Given the description of an element on the screen output the (x, y) to click on. 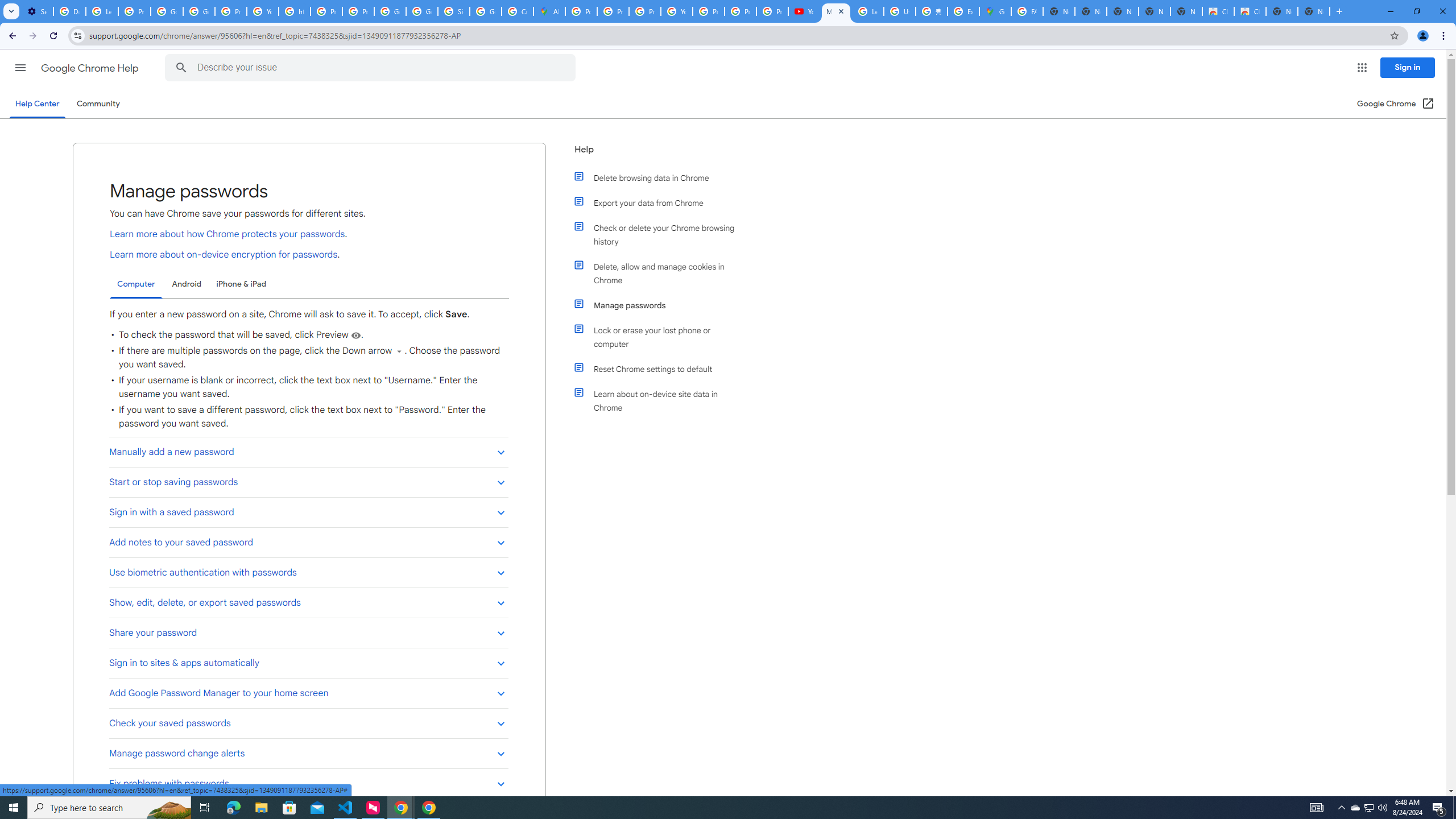
Android (186, 284)
Create your Google Account (517, 11)
Learn more about on-device encryption for passwords (223, 254)
Down arrow (399, 350)
Delete browsing data in Chrome (661, 177)
Classic Blue - Chrome Web Store (1249, 11)
Privacy Help Center - Policies Help (326, 11)
